Given the description of an element on the screen output the (x, y) to click on. 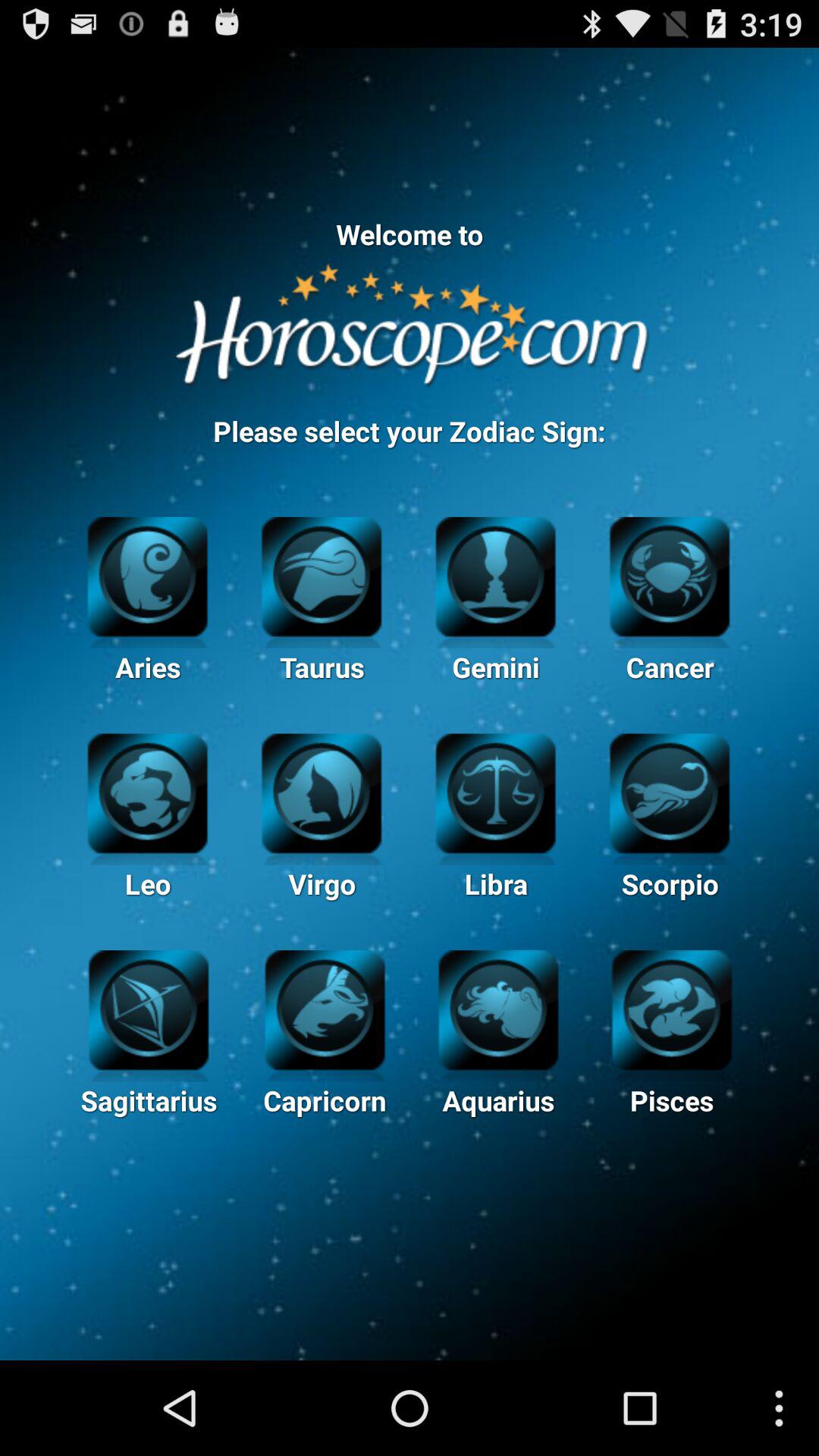
select cancer zodiac sign (669, 574)
